Given the description of an element on the screen output the (x, y) to click on. 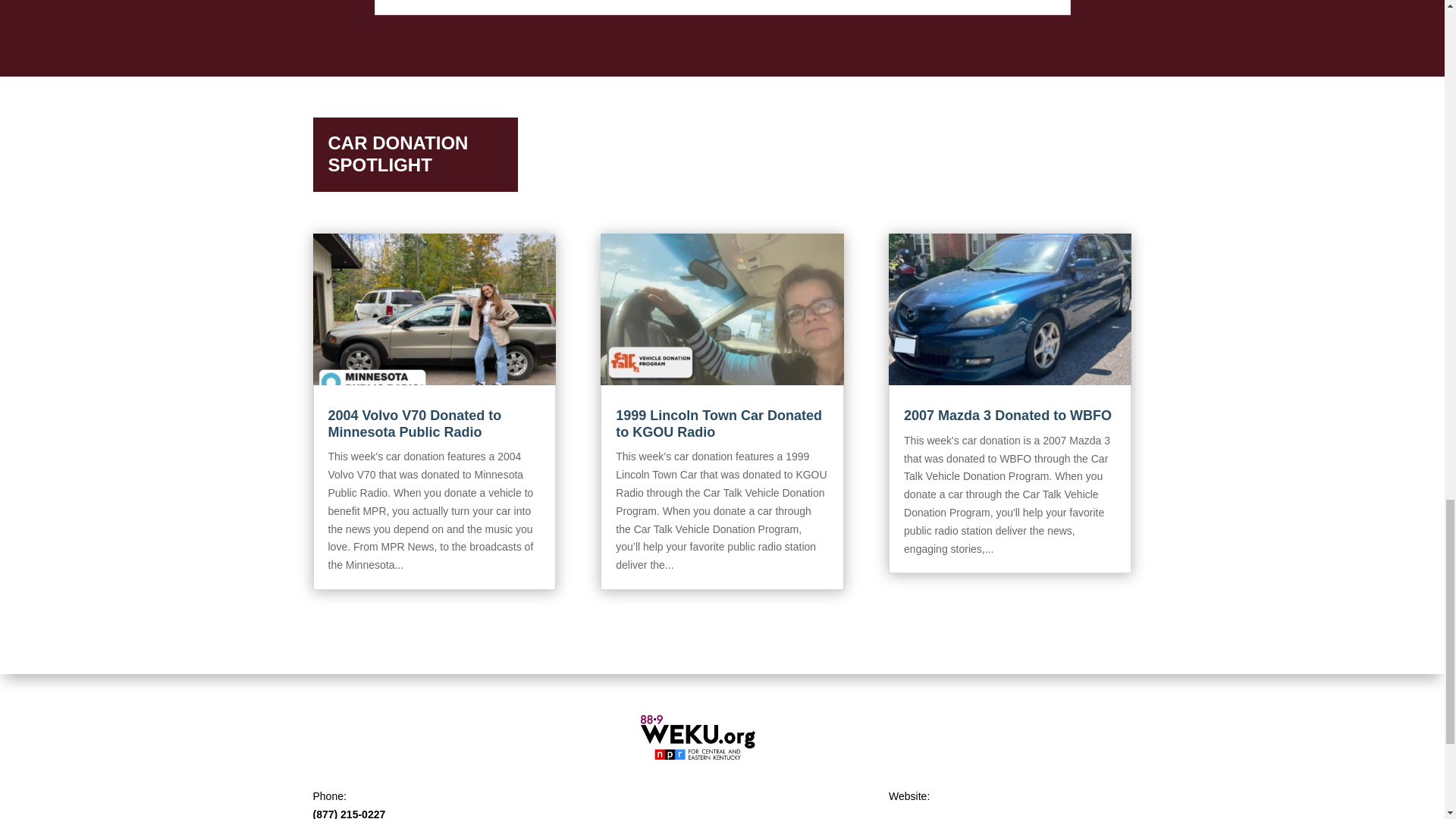
2007 Mazda 3 Donated to WBFO (1008, 415)
1999 Lincoln Town Car Donated to KGOU Radio (718, 423)
2004 Volvo V70 Donated to Minnesota Public Radio (413, 423)
